Given the description of an element on the screen output the (x, y) to click on. 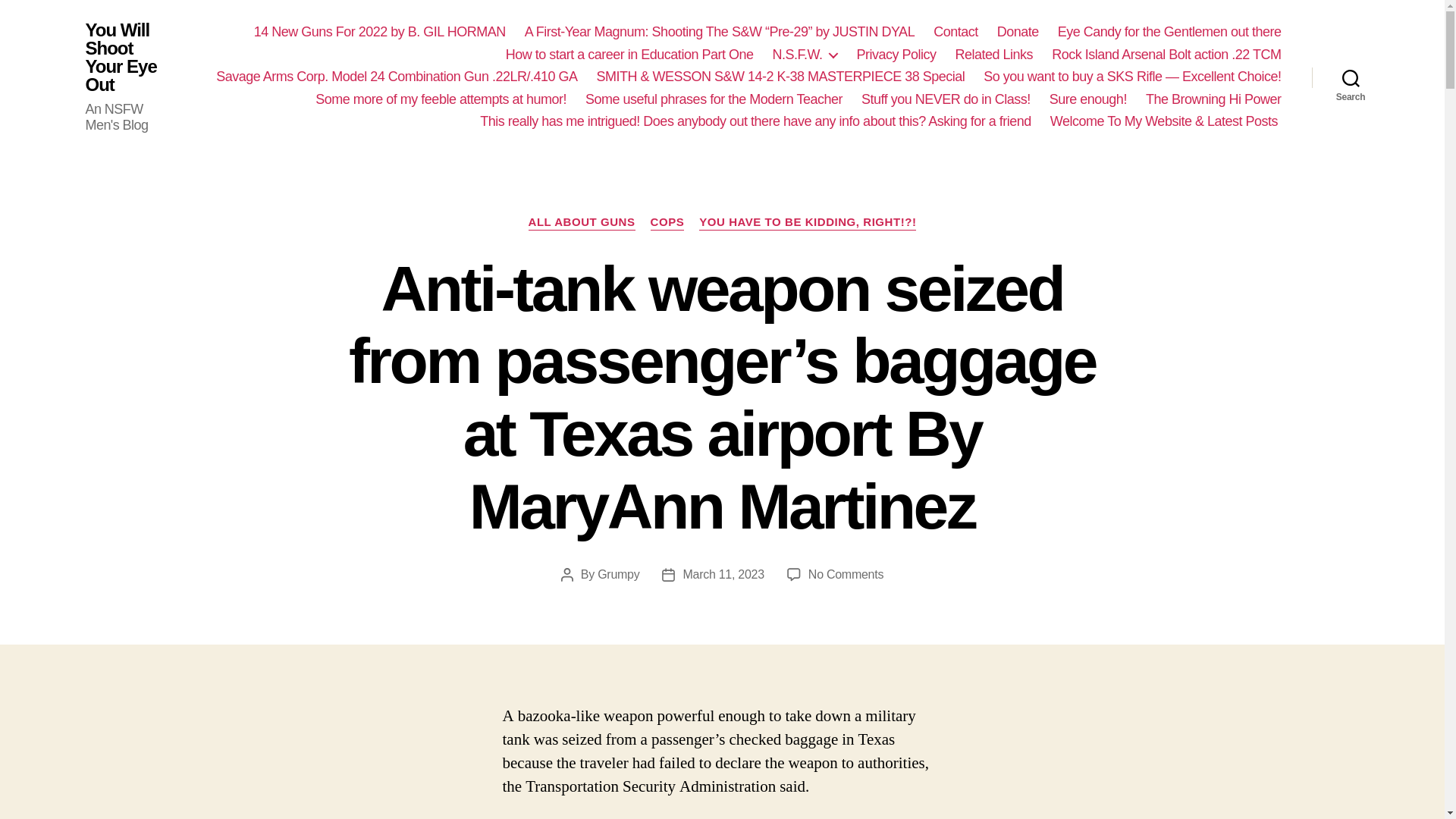
Donate (1018, 32)
The Browning Hi Power (1213, 99)
Some useful phrases for the Modern Teacher (714, 99)
Search (1350, 77)
Eye Candy for the Gentlemen out there (1169, 32)
Some more of my feeble attempts at humor! (440, 99)
You Will Shoot Your Eye Out (128, 57)
Contact (955, 32)
Privacy Policy (896, 54)
How to start a career in Education Part One (629, 54)
14 New Guns For 2022 by B. GIL HORMAN (379, 32)
Rock Island Arsenal Bolt action .22 TCM (1166, 54)
Stuff you NEVER do in Class! (945, 99)
Related Links (994, 54)
